Given the description of an element on the screen output the (x, y) to click on. 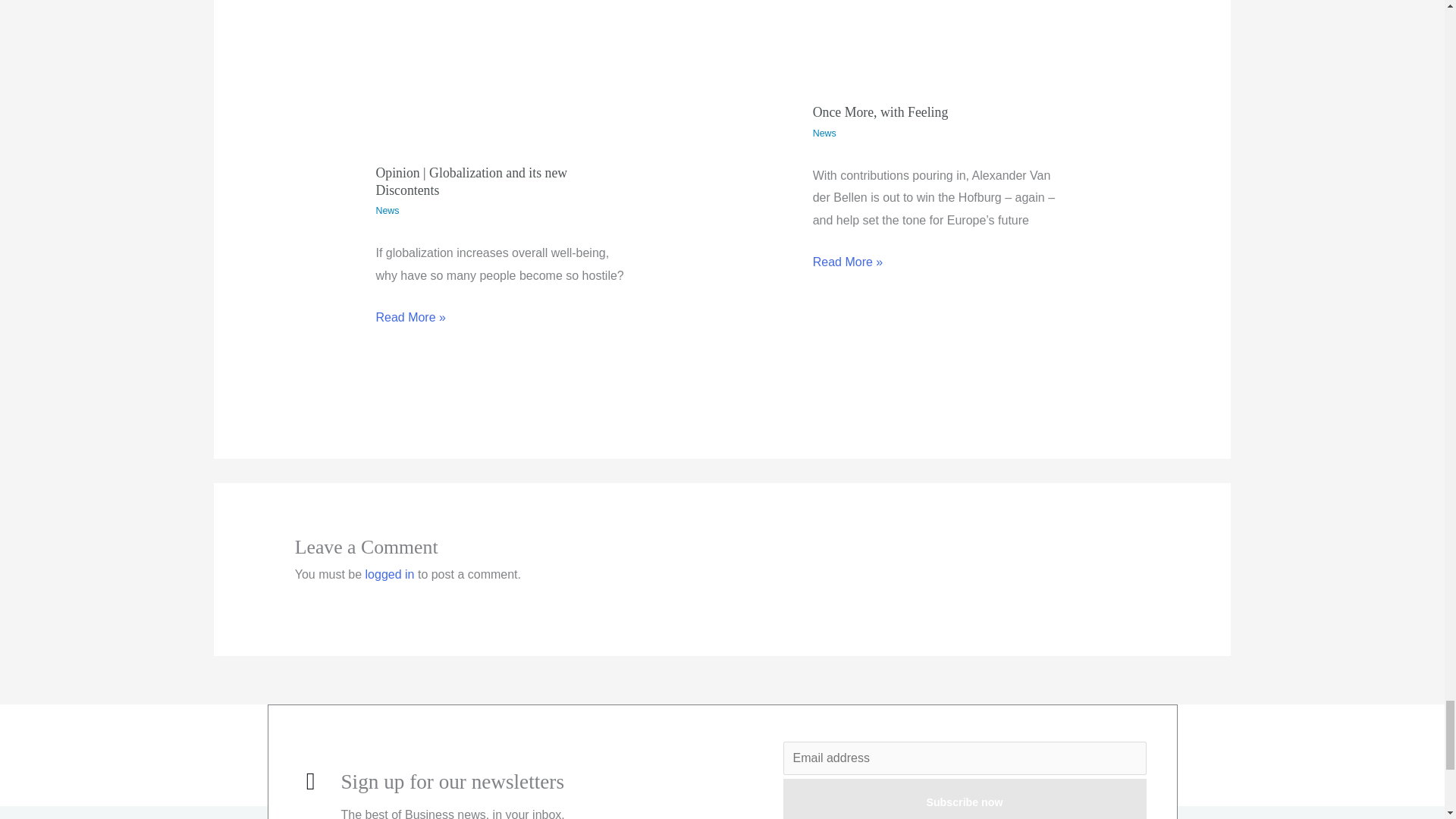
Subscribe now (964, 798)
